Given the description of an element on the screen output the (x, y) to click on. 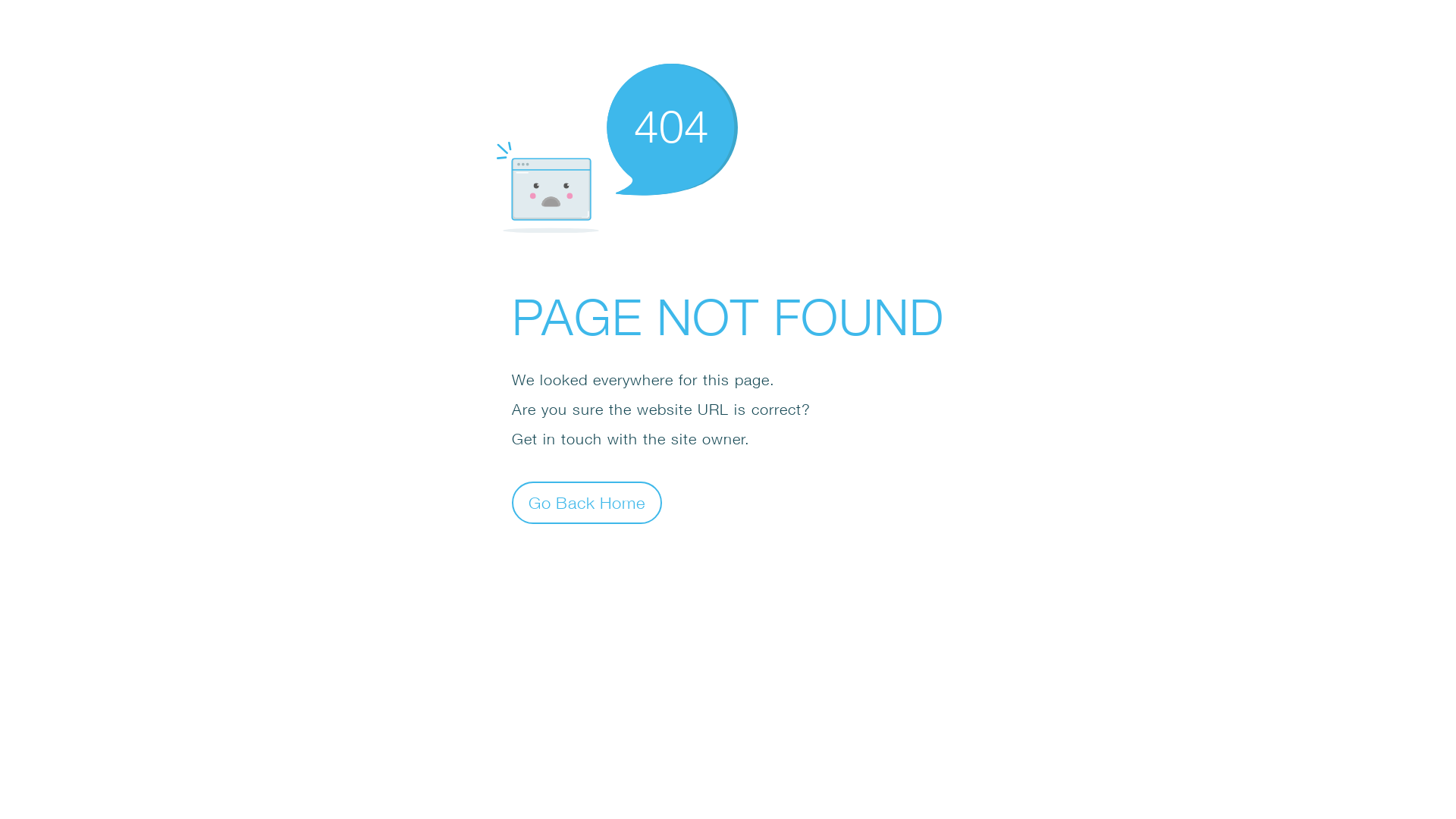
Go Back Home Element type: text (586, 502)
